Given the description of an element on the screen output the (x, y) to click on. 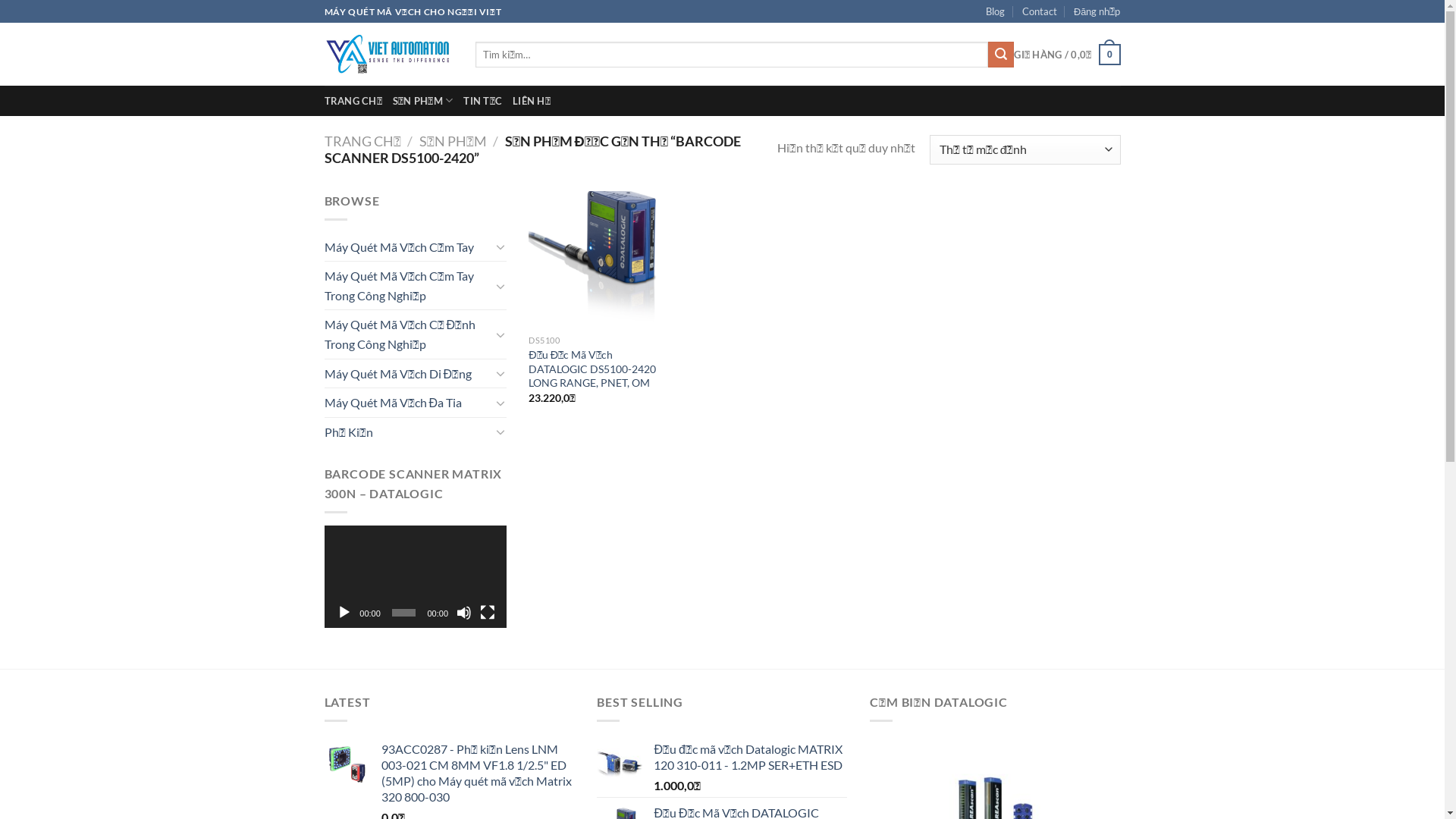
Blog Element type: text (994, 11)
Contact Element type: text (1039, 11)
